Given the description of an element on the screen output the (x, y) to click on. 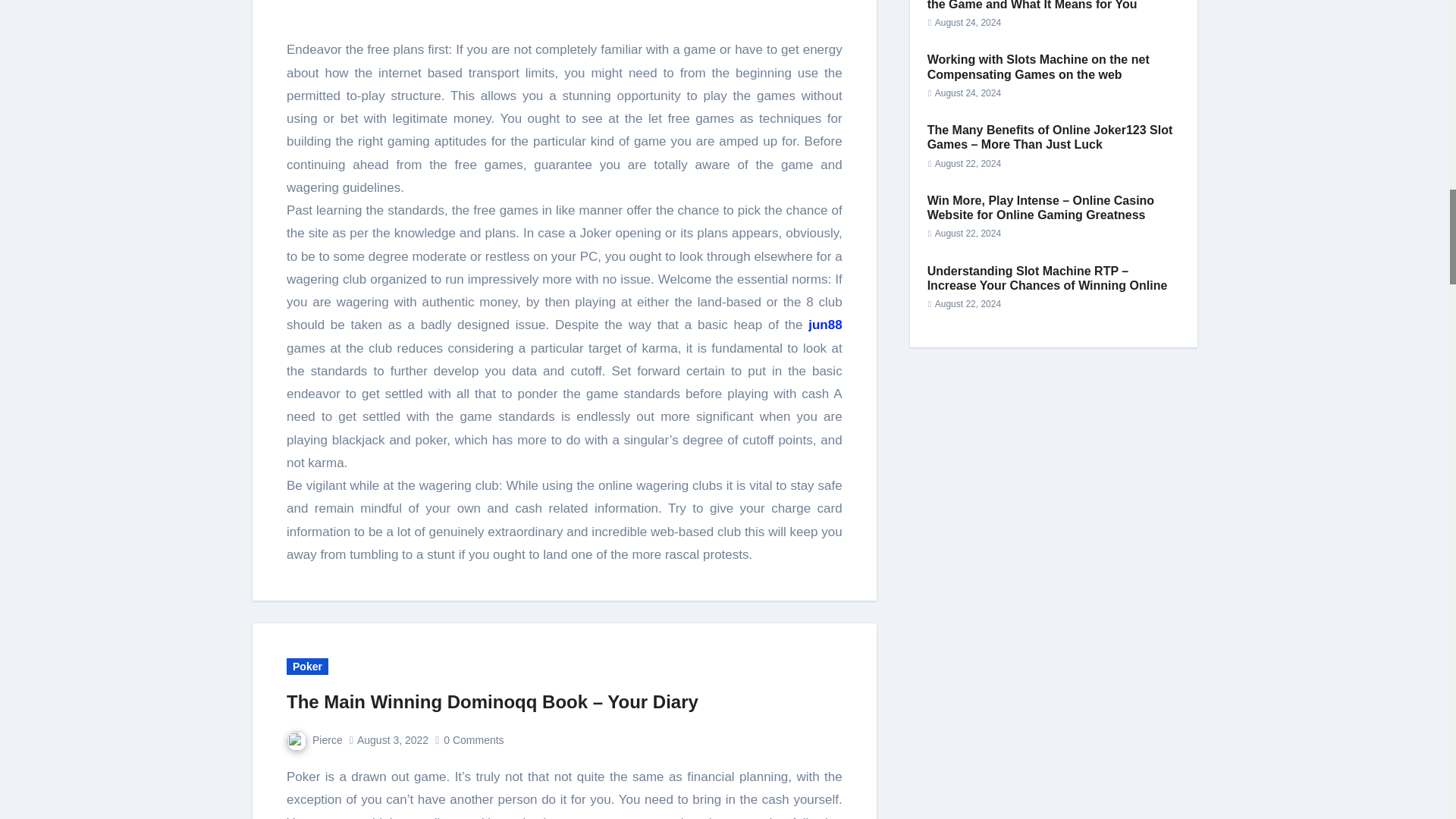
August 3, 2022 (392, 739)
0Comments (475, 739)
Poker (307, 666)
jun88 (824, 324)
Pierce (314, 739)
